Given the description of an element on the screen output the (x, y) to click on. 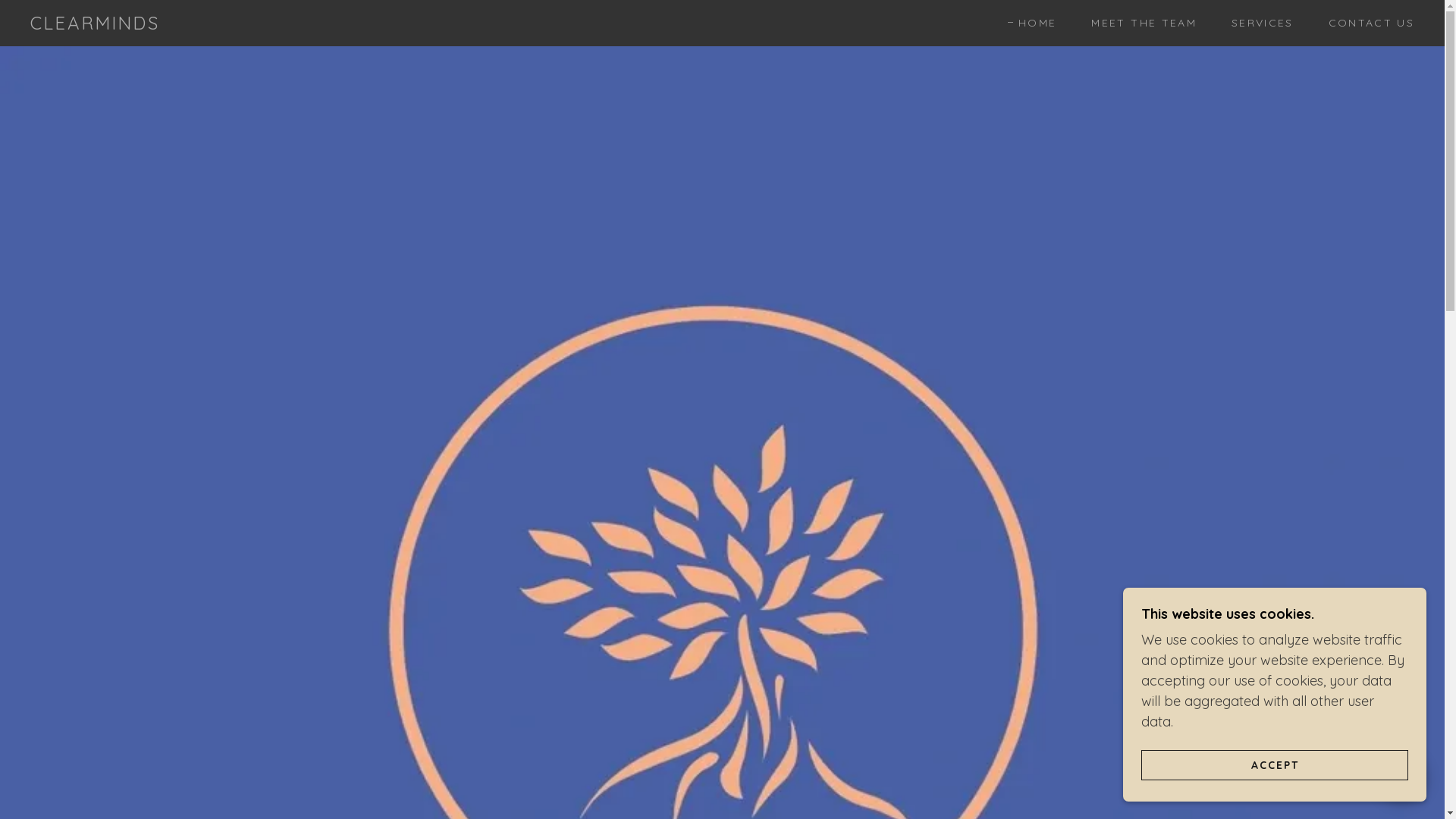
CONTACT US Element type: text (1365, 22)
SERVICES Element type: text (1257, 22)
ACCEPT Element type: text (1274, 764)
CLEARMINDS Element type: text (94, 24)
MEET THE TEAM Element type: text (1138, 22)
HOME Element type: text (1031, 22)
